Given the description of an element on the screen output the (x, y) to click on. 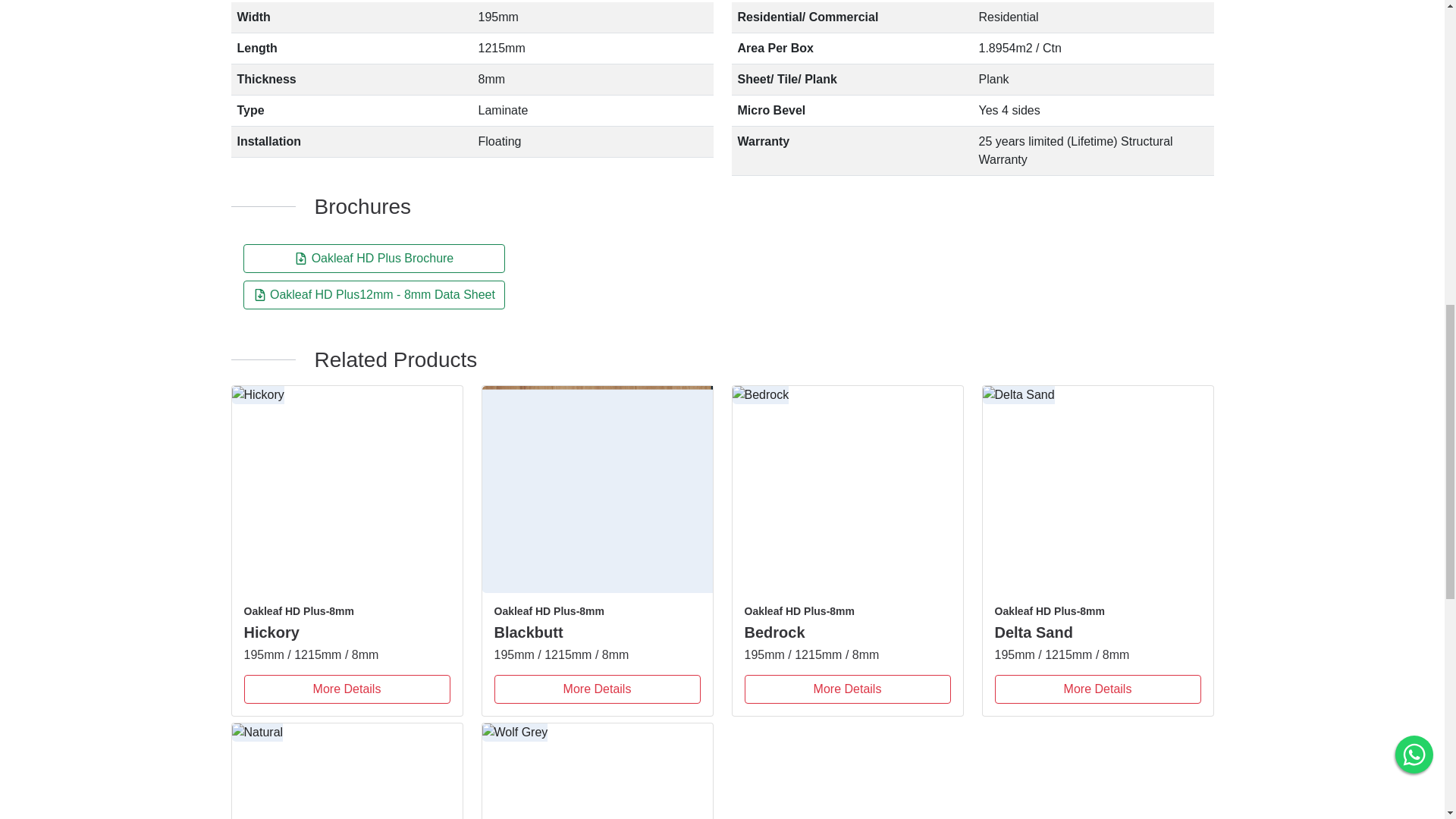
Oakleaf HD Plus Brochure (382, 257)
Oakleaf HD Plus12mm - 8mm Data Sheet (382, 294)
More Details (597, 688)
More Details (1097, 688)
More Details (346, 688)
More Details (847, 688)
